Given the description of an element on the screen output the (x, y) to click on. 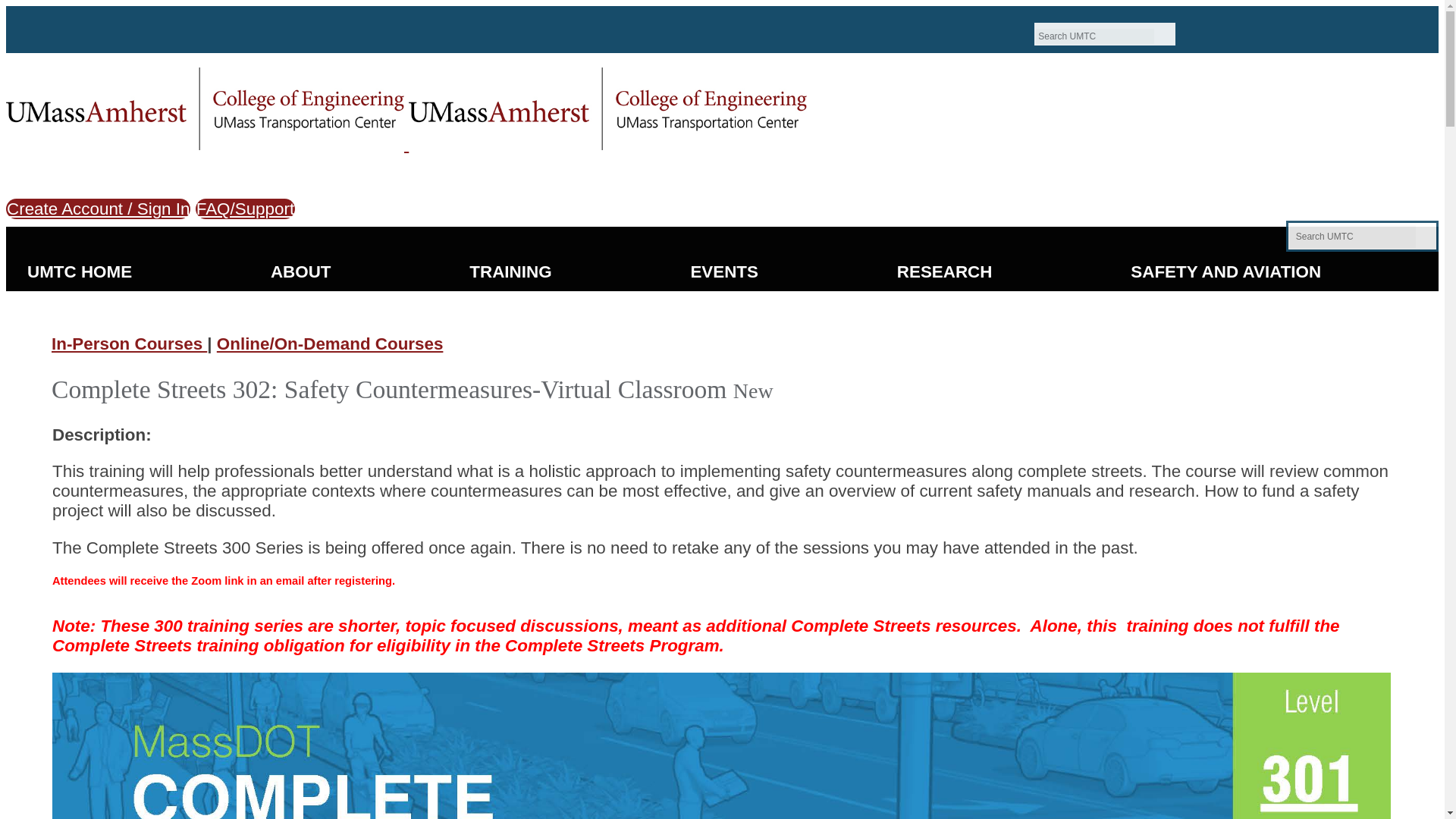
TRAINING (510, 272)
RESEARCH (944, 272)
SAFETY AND AVIATION (1225, 272)
UMTC HOME (78, 272)
ABOUT (300, 272)
EVENTS (723, 272)
In-Person Courses (128, 343)
